Given the description of an element on the screen output the (x, y) to click on. 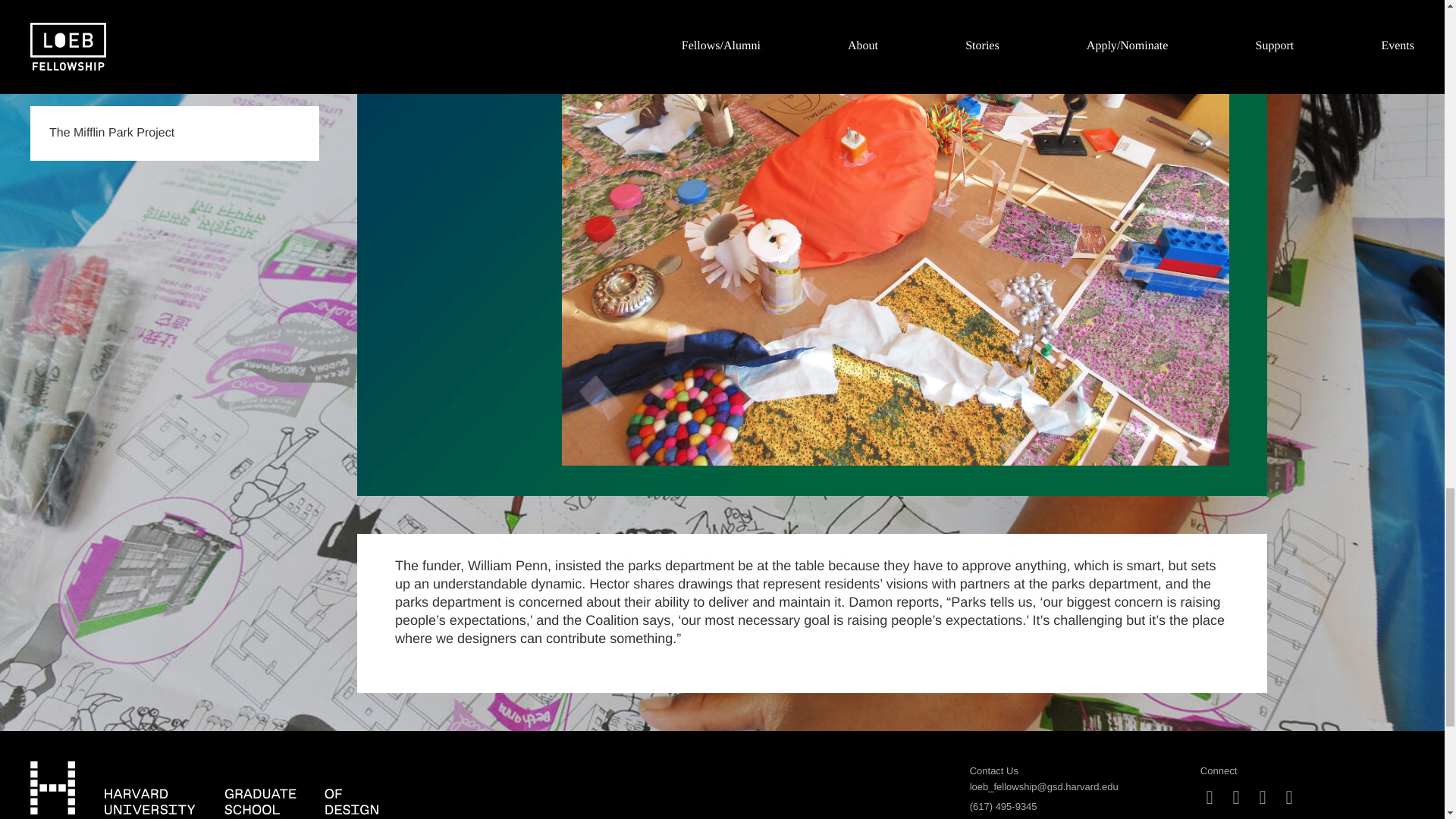
Harvard Graduate School of Design (204, 787)
Visit us on Instagram (1209, 797)
Contact Us (993, 770)
